Given the description of an element on the screen output the (x, y) to click on. 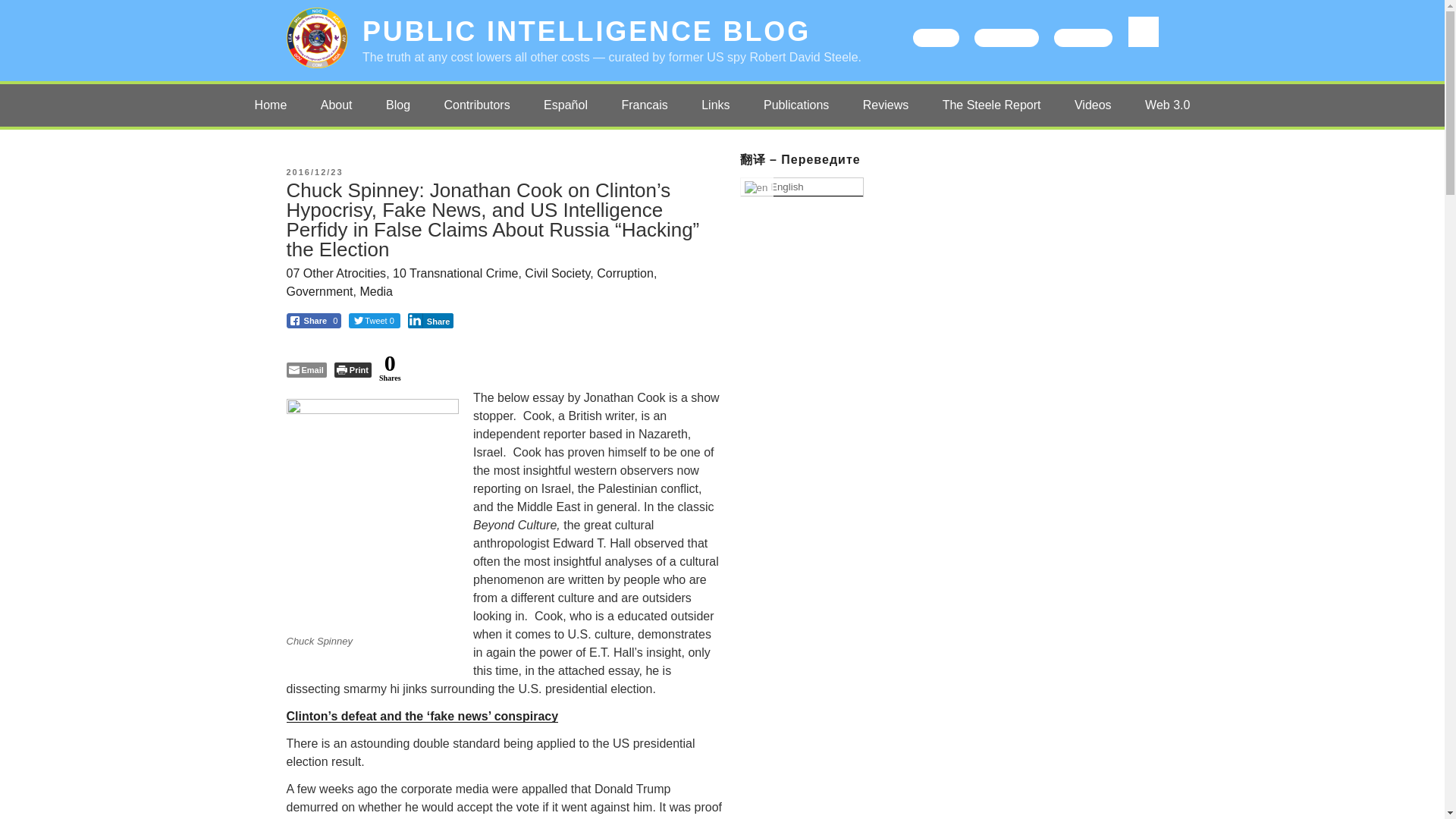
Contributors (477, 105)
Government (319, 291)
Publications (796, 105)
10 Transnational Crime (455, 273)
Web 3.0 (1167, 105)
Reviews (885, 105)
Twitter (935, 37)
Facebook (1006, 37)
Print (352, 369)
The Steele Report (992, 105)
Home (271, 105)
Corruption (624, 273)
PUBLIC INTELLIGENCE BLOG (586, 30)
Francais (643, 105)
Videos (1092, 105)
